Given the description of an element on the screen output the (x, y) to click on. 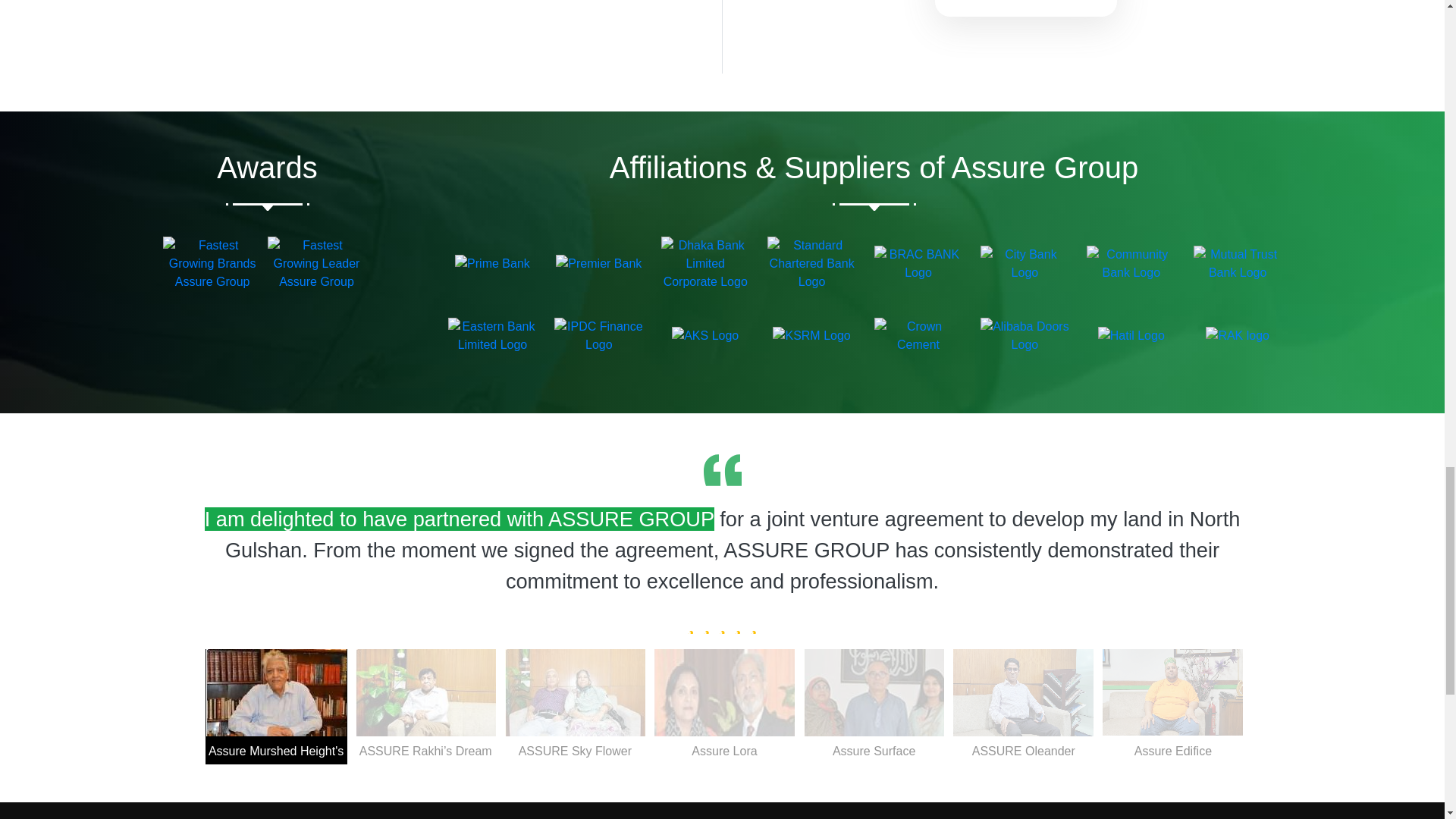
BRAC Bank Limited (917, 263)
Fastest Growing Business Leader of Bangladesh 2020-21 (315, 263)
Hatil (1130, 335)
Mutual Trust Bank (1237, 263)
Fastest-Growing Brands 2020 - 21 (212, 263)
Crown Cement (917, 335)
Community Bank Bangladesh Limited (1130, 263)
Standard Chartered Bank (811, 263)
IPDC Finance (598, 335)
City Bank Logo (1023, 263)
